Given the description of an element on the screen output the (x, y) to click on. 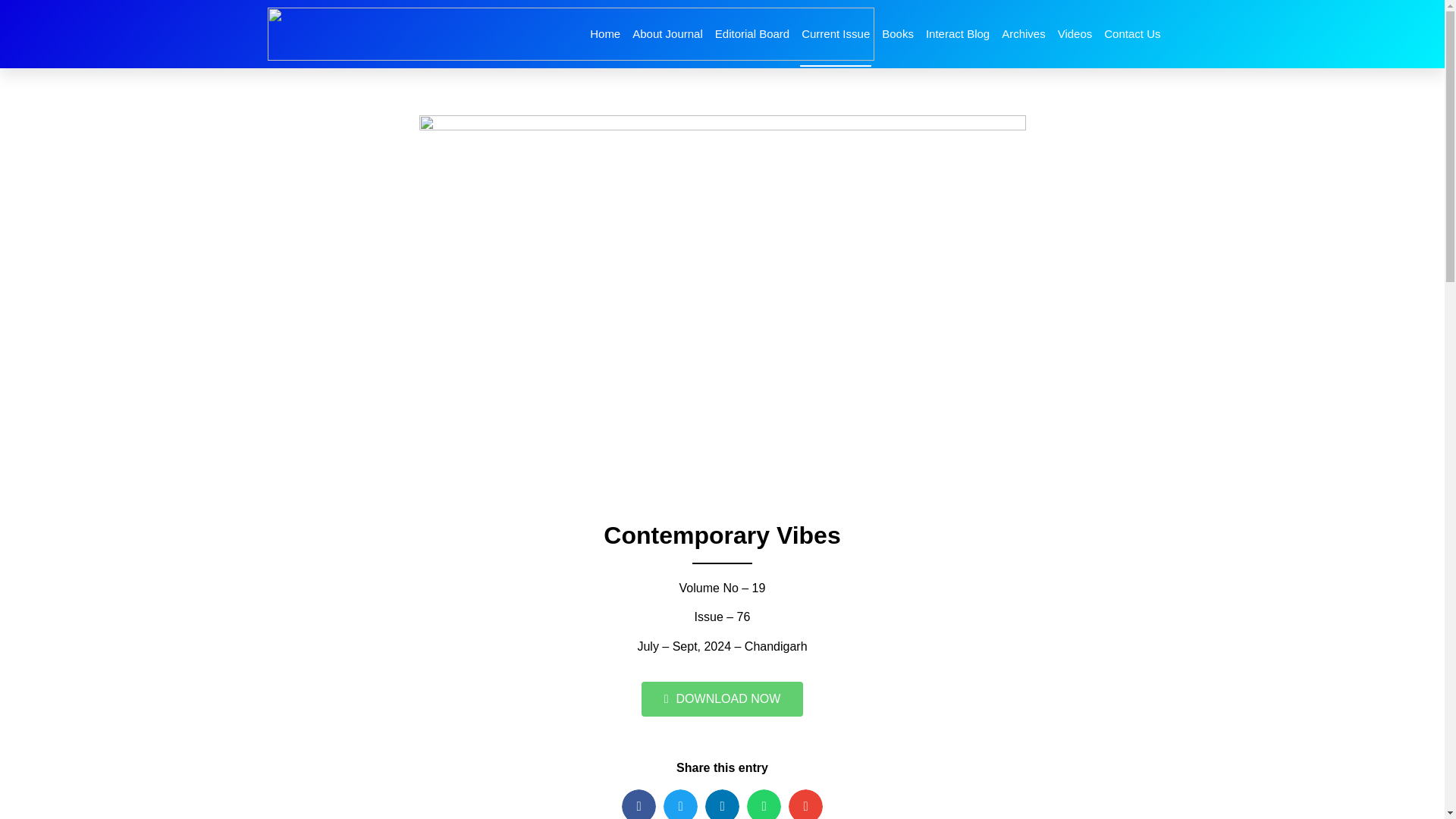
About Journal (667, 33)
Current Issue (834, 33)
DOWNLOAD NOW (722, 698)
Interact Blog (957, 33)
Contact Us (1131, 33)
Editorial Board (751, 33)
